Given the description of an element on the screen output the (x, y) to click on. 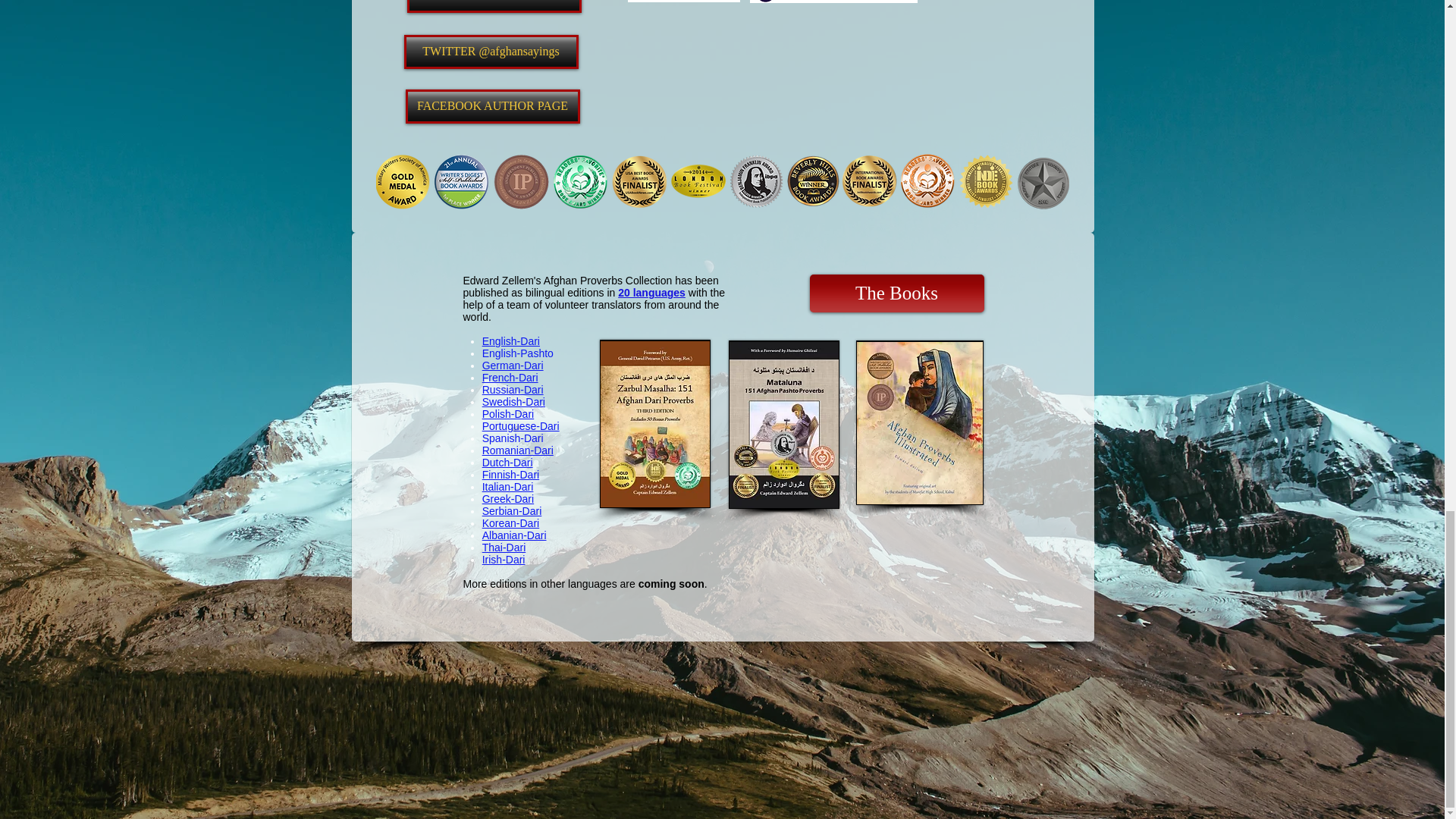
AMAZON AUTHOR PAGE (493, 6)
French-Dari (509, 377)
Russian-Dari (512, 389)
German-Dari (512, 365)
FACEBOOK AUTHOR PAGE (491, 106)
English-Pashto (517, 353)
20 languages (651, 292)
English-Dari (510, 340)
